Given the description of an element on the screen output the (x, y) to click on. 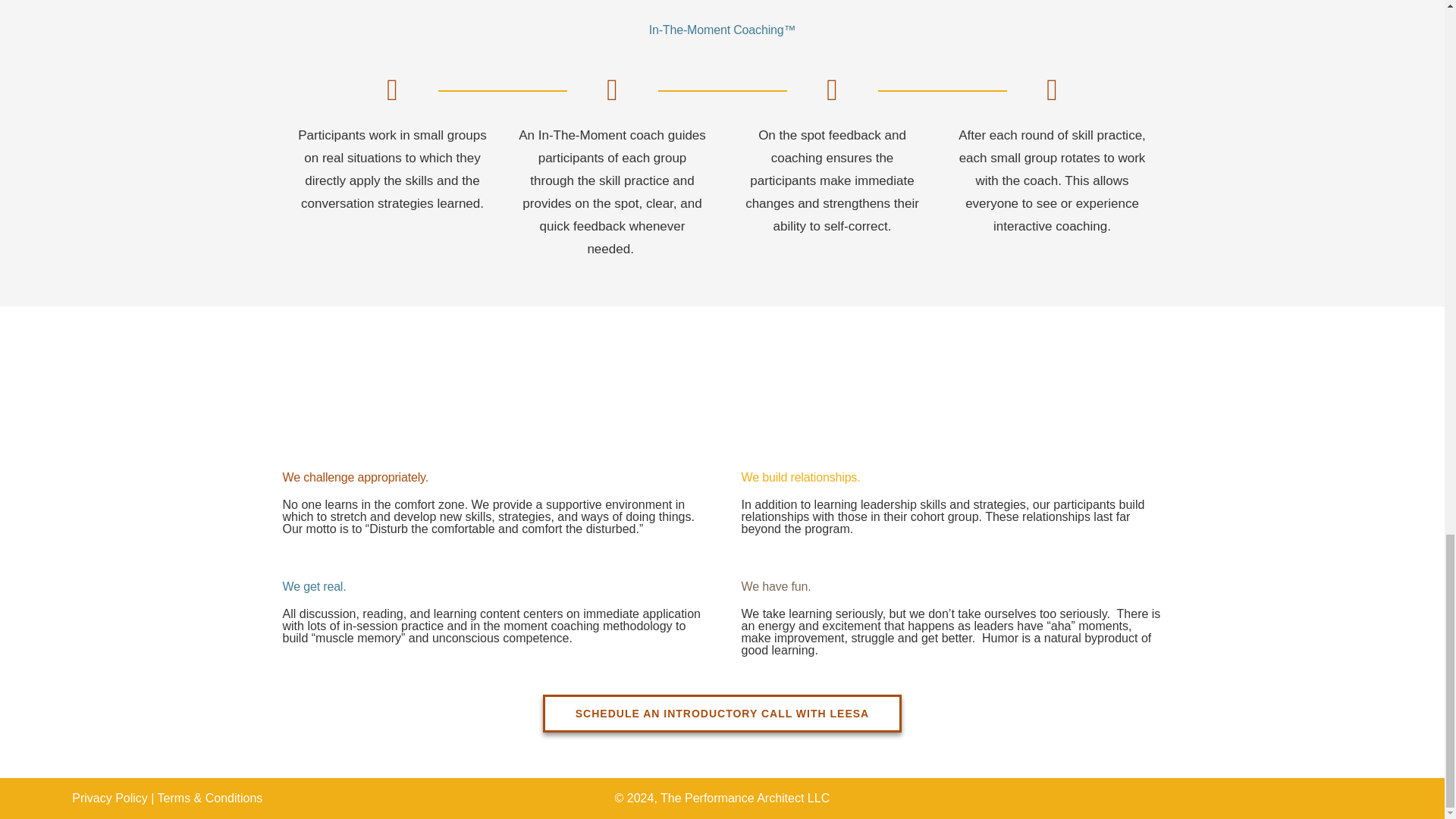
SCHEDULE AN INTRODUCTORY CALL WITH LEESA (722, 713)
Privacy Policy (109, 797)
